Given the description of an element on the screen output the (x, y) to click on. 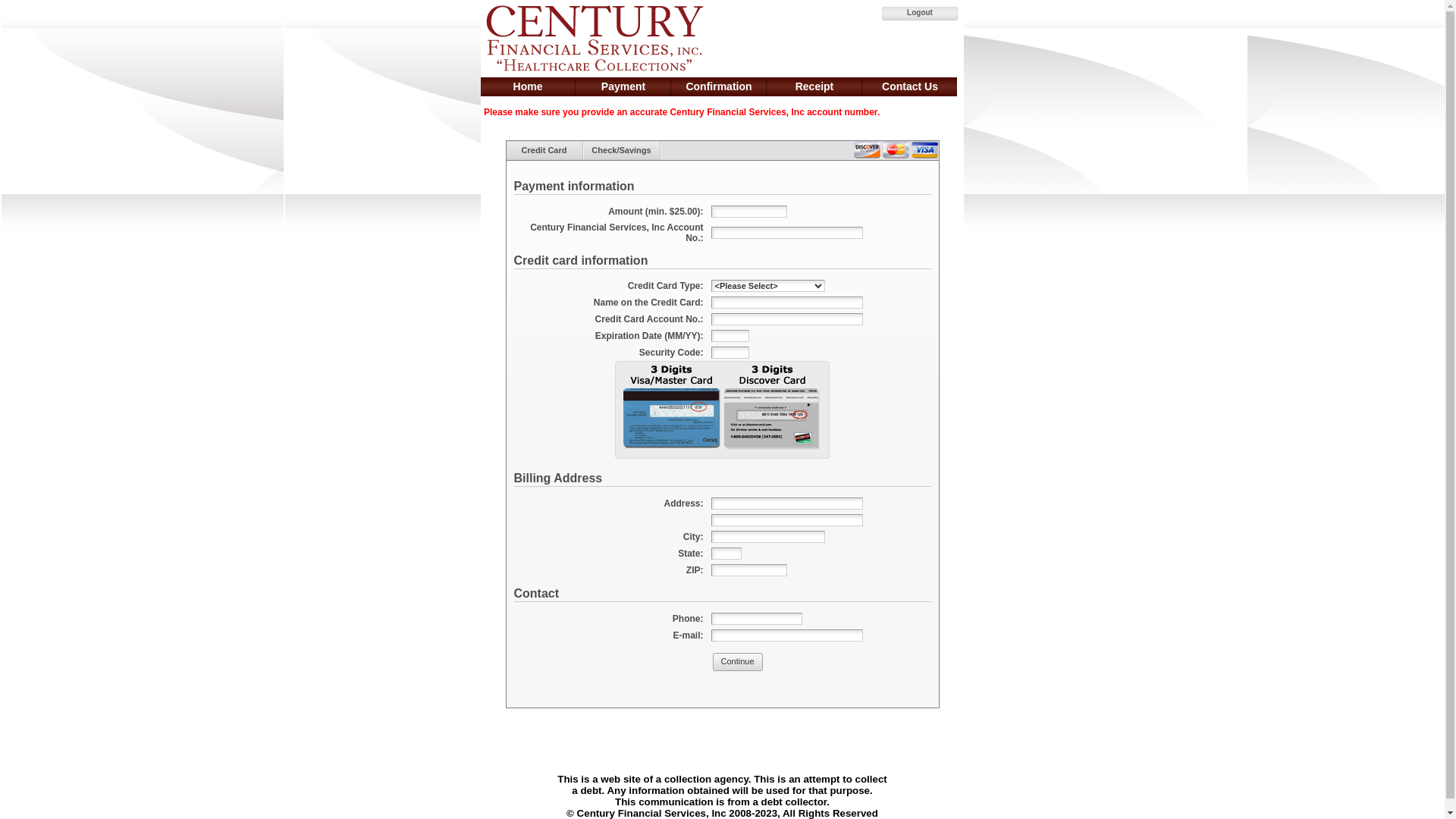
Logout Element type: text (919, 13)
Receipt Element type: text (814, 86)
Check/Savings Element type: text (621, 150)
Continue Element type: text (737, 661)
Home Element type: text (527, 86)
Contact Us Element type: text (909, 86)
Confirmation Element type: text (718, 86)
Payment Element type: text (623, 86)
Credit Card Element type: text (544, 150)
